Given the description of an element on the screen output the (x, y) to click on. 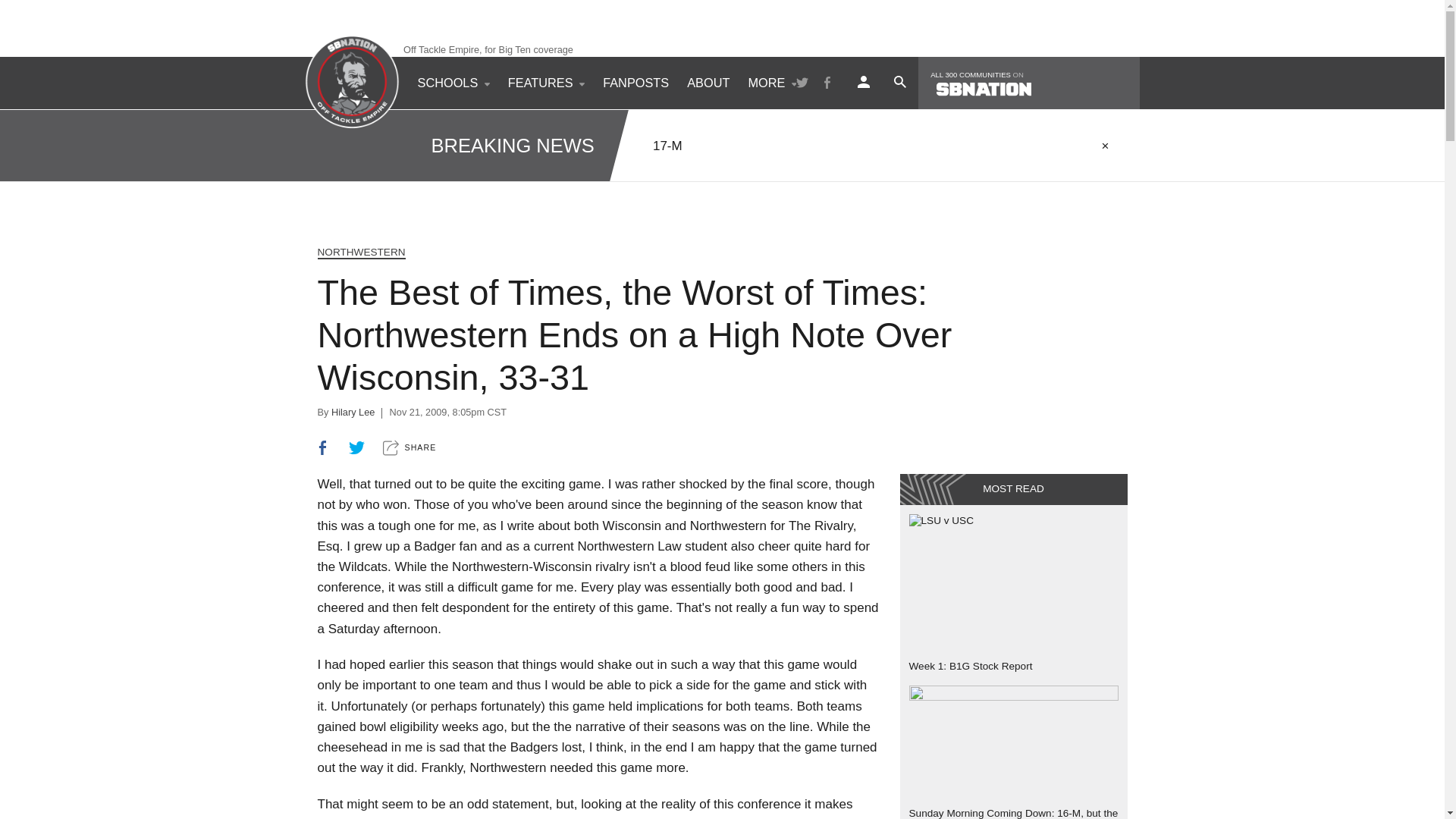
HORIZONTAL - WHITE (983, 88)
FANPOSTS (636, 82)
ABOUT (708, 82)
MORE (771, 82)
FEATURES (546, 82)
Search (1061, 134)
SCHOOLS (452, 82)
Search (899, 81)
Off Tackle Empire homepage (352, 82)
ALL 300 COMMUNITIES ON HORIZONTAL - WHITE (1028, 82)
